Given the description of an element on the screen output the (x, y) to click on. 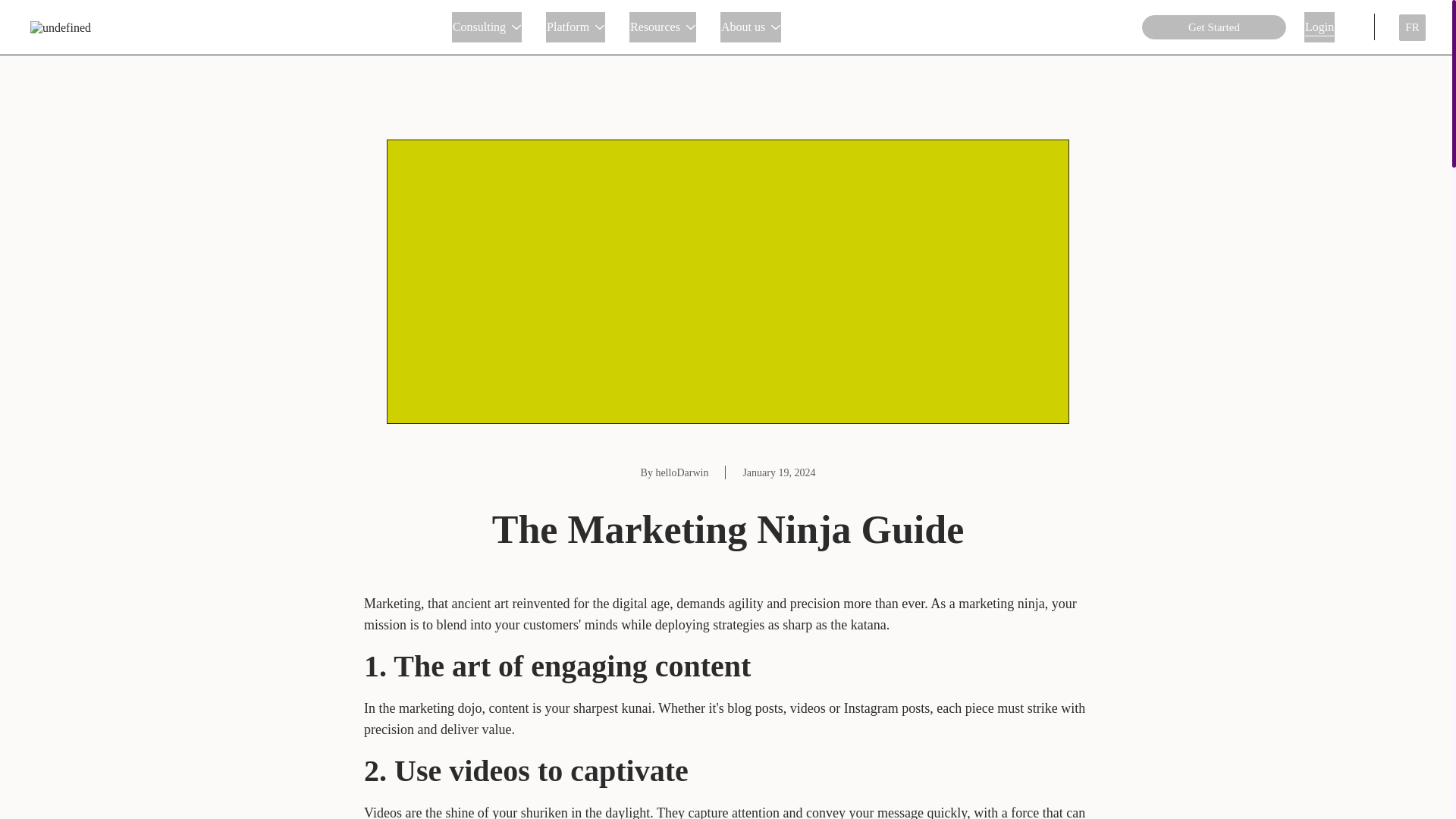
Platform (575, 27)
Login (1319, 27)
About us (750, 27)
Resources (661, 27)
Get Started (1213, 27)
Consulting (486, 27)
FR (1412, 26)
